Given the description of an element on the screen output the (x, y) to click on. 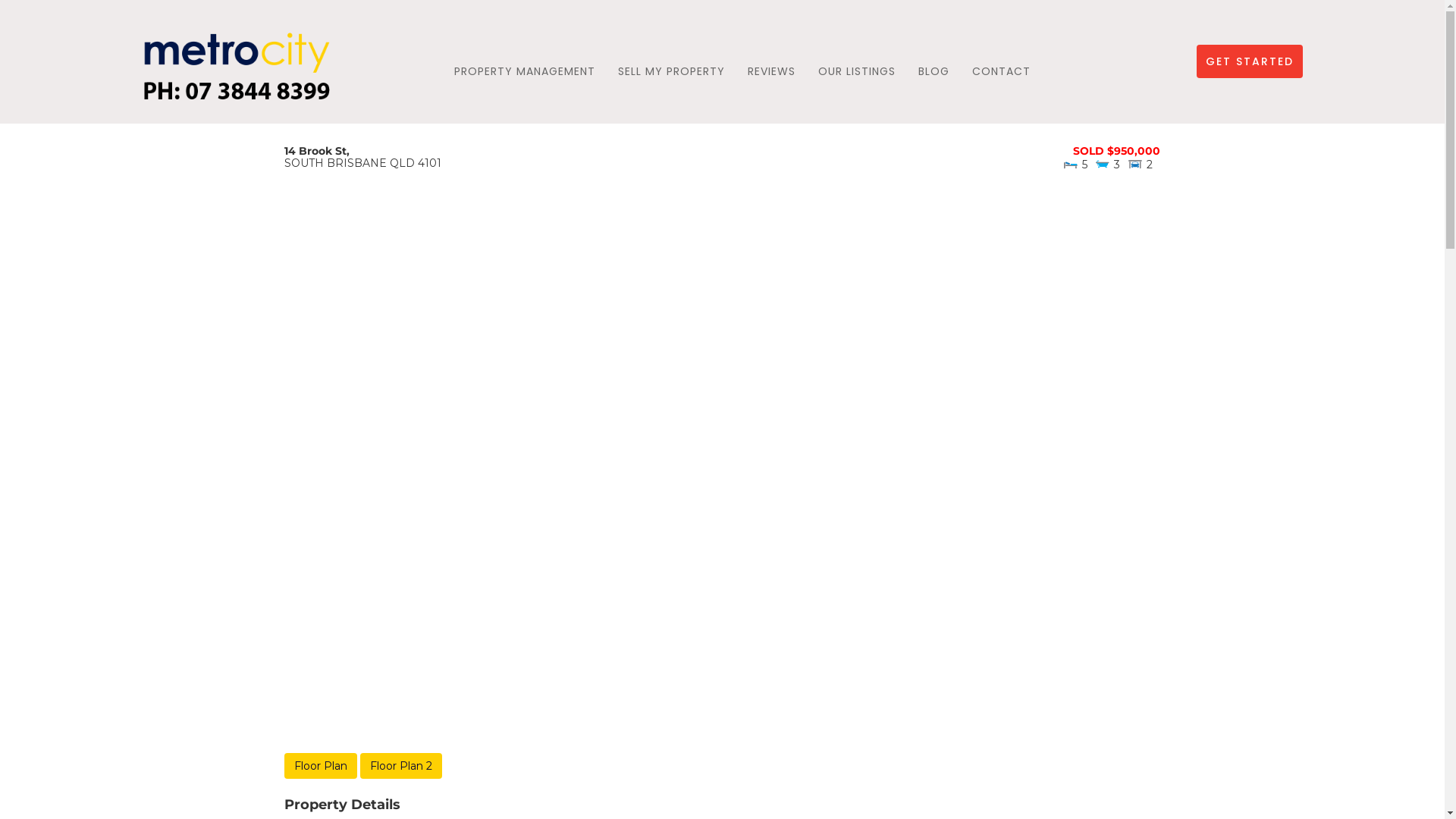
OUR LISTINGS Element type: text (856, 71)
Floor Plan Element type: text (320, 765)
REVIEWS Element type: text (771, 71)
CONTACT Element type: text (1001, 71)
PROPERTY MANAGEMENT Element type: text (524, 71)
SELL MY PROPERTY Element type: text (671, 71)
BLOG Element type: text (933, 71)
Floor Plan 2 Element type: text (401, 765)
GET STARTED Element type: text (1249, 61)
